Given the description of an element on the screen output the (x, y) to click on. 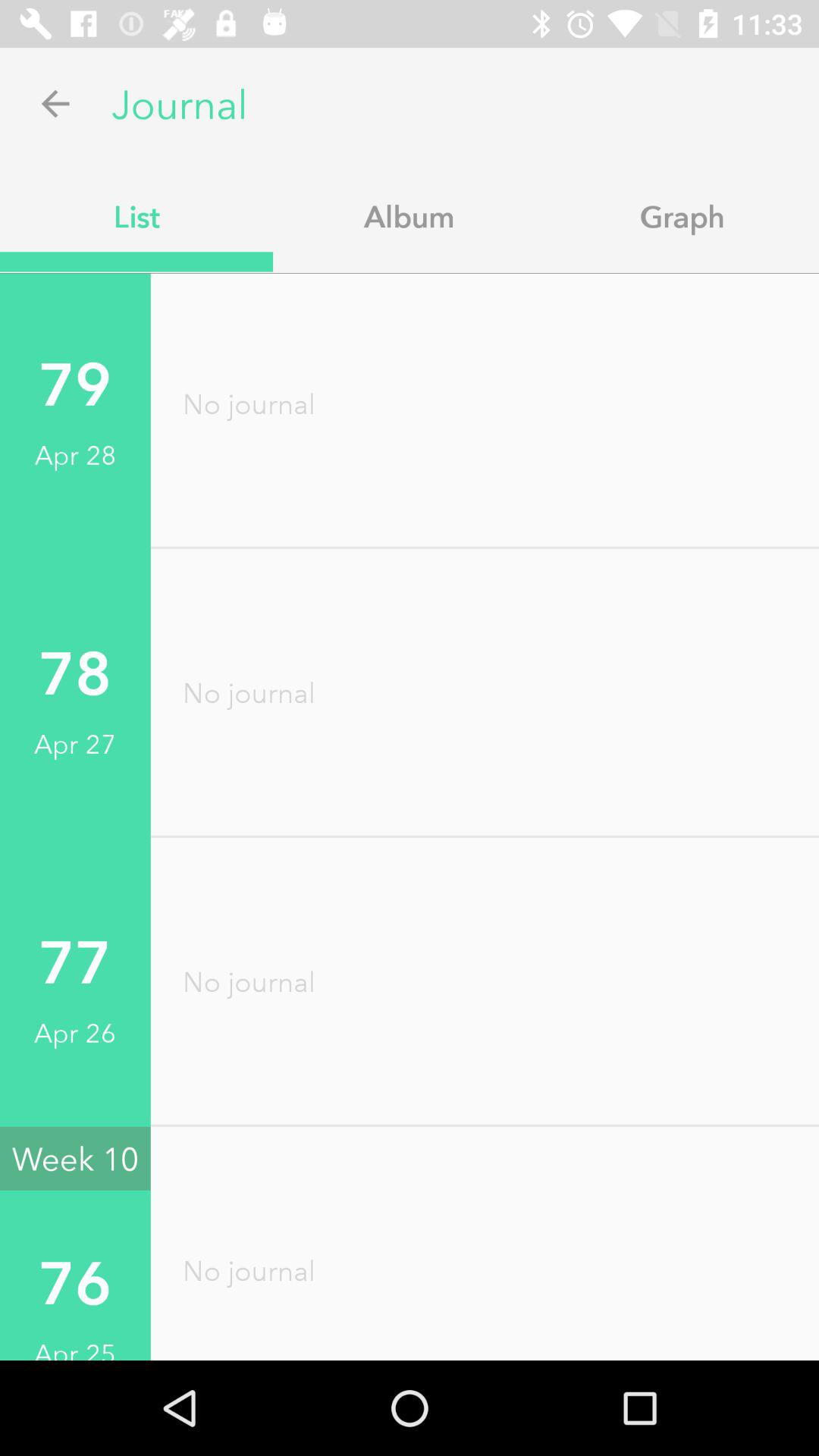
turn on item next to list (409, 216)
